Given the description of an element on the screen output the (x, y) to click on. 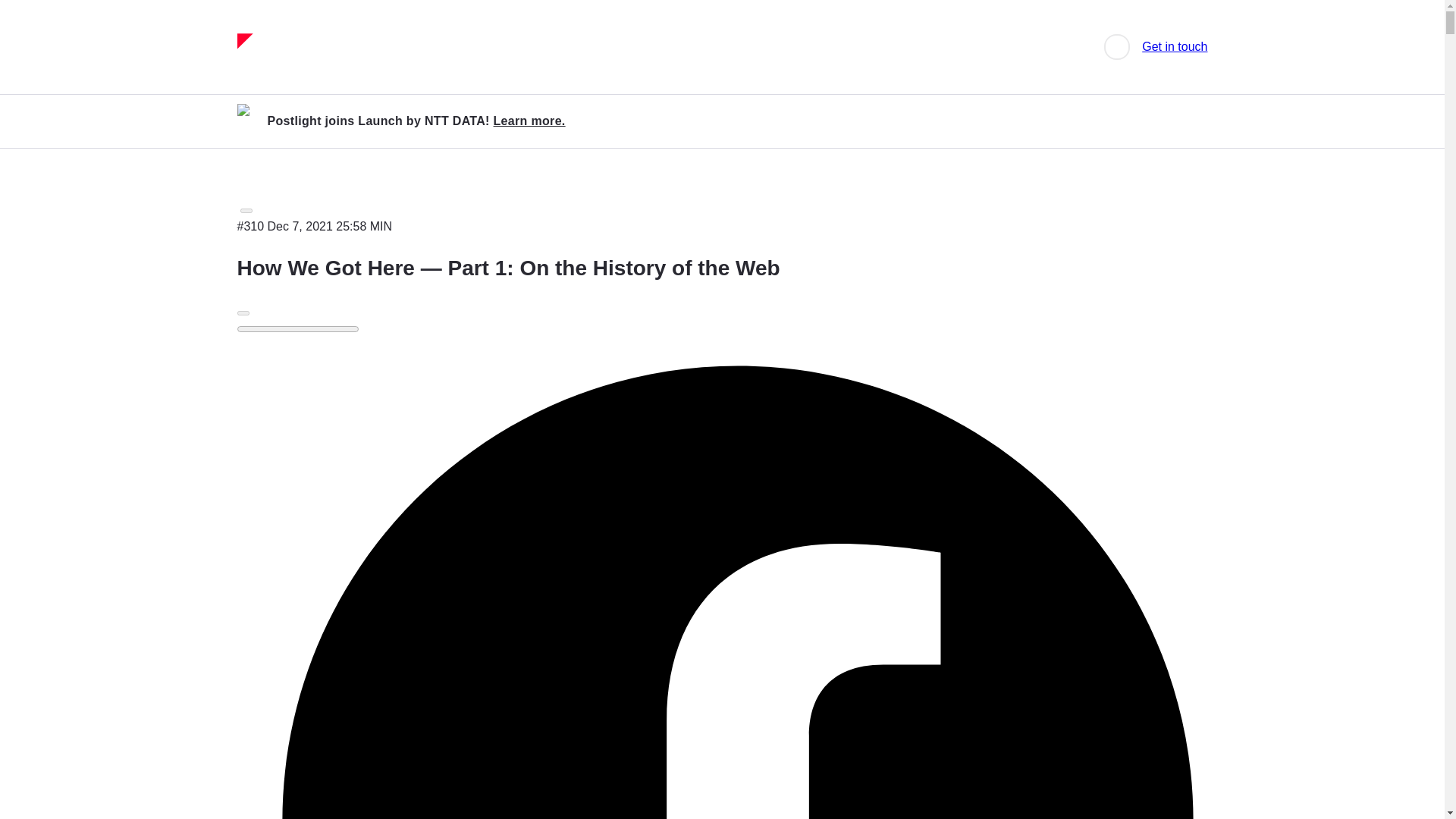
Learn more. (529, 120)
Get in touch (1174, 47)
Get in touch (1174, 47)
Search (1116, 46)
